Given the description of an element on the screen output the (x, y) to click on. 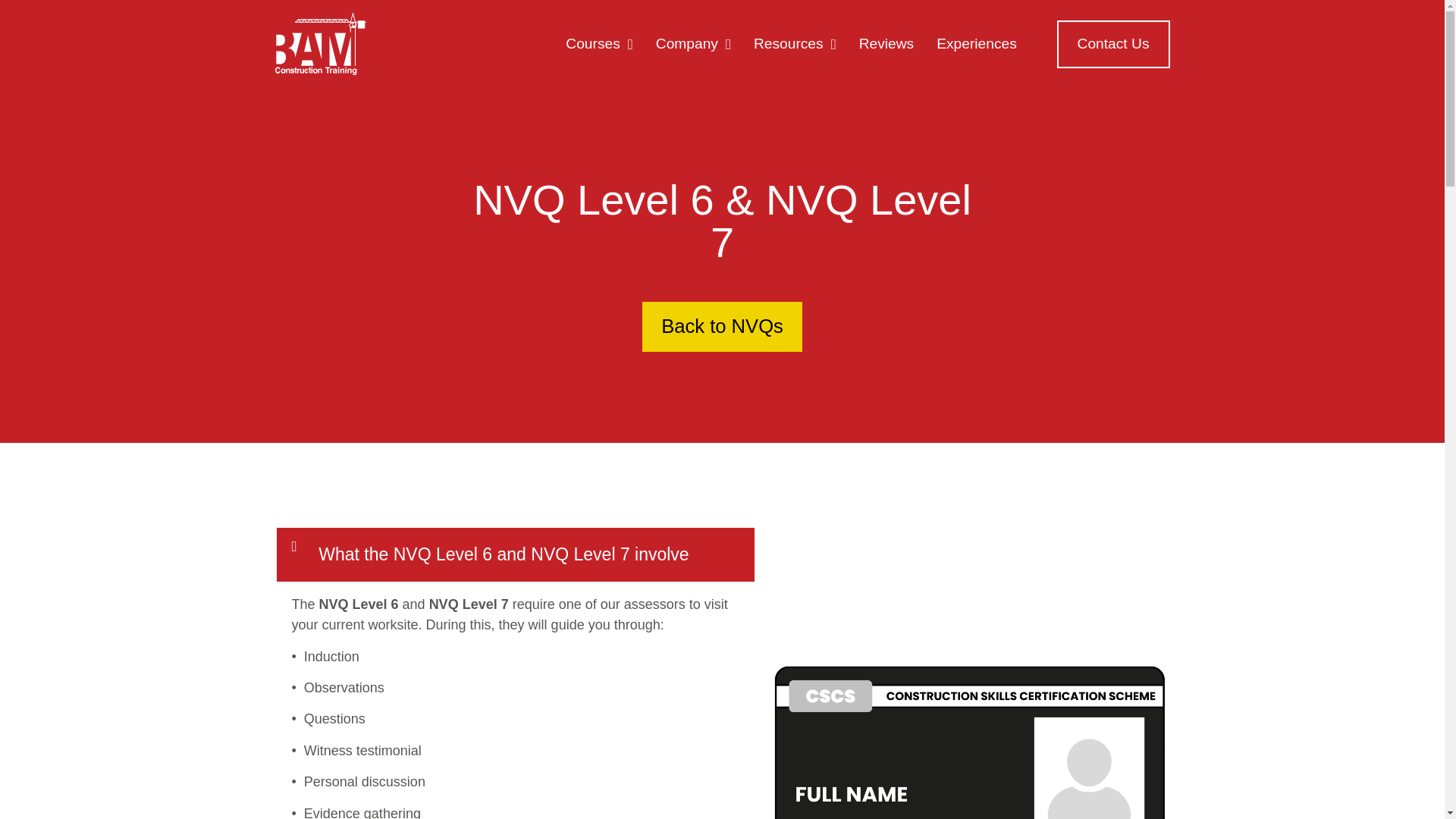
Company (693, 44)
Experiences (975, 44)
Courses (598, 44)
Resources (794, 44)
Reviews (886, 44)
